Given the description of an element on the screen output the (x, y) to click on. 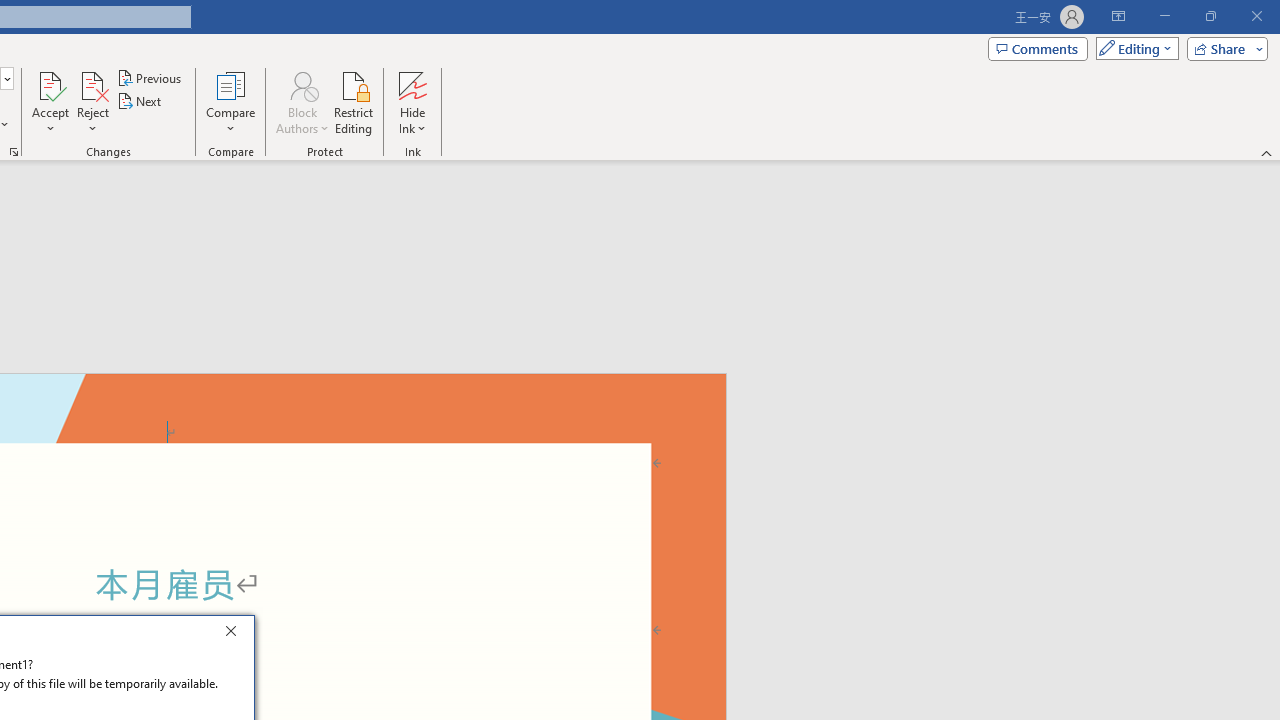
Compare (230, 102)
Hide Ink (412, 102)
Hide Ink (412, 84)
Previous (150, 78)
